Given the description of an element on the screen output the (x, y) to click on. 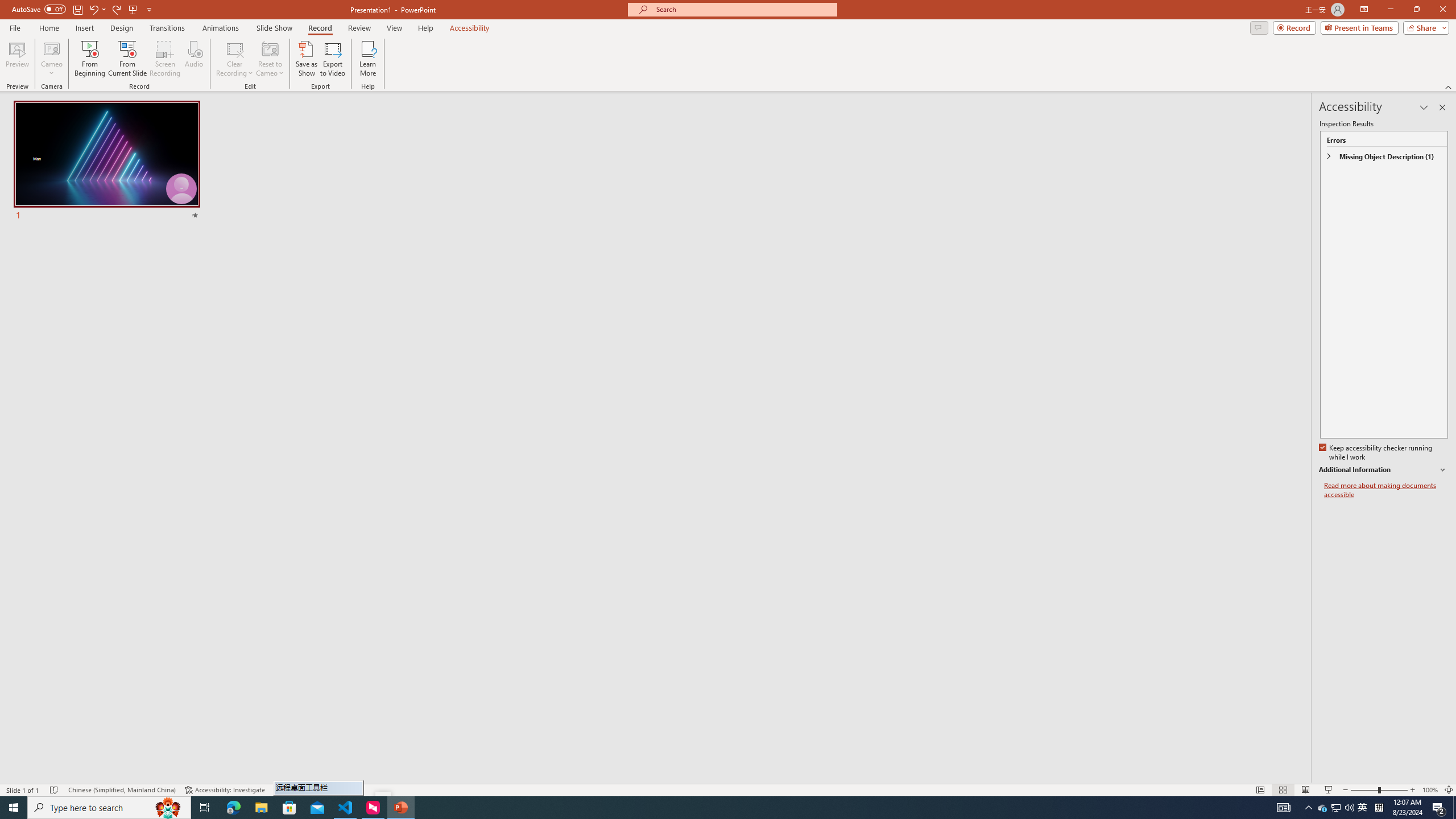
From Beginning... (89, 58)
Slide (106, 161)
